Given the description of an element on the screen output the (x, y) to click on. 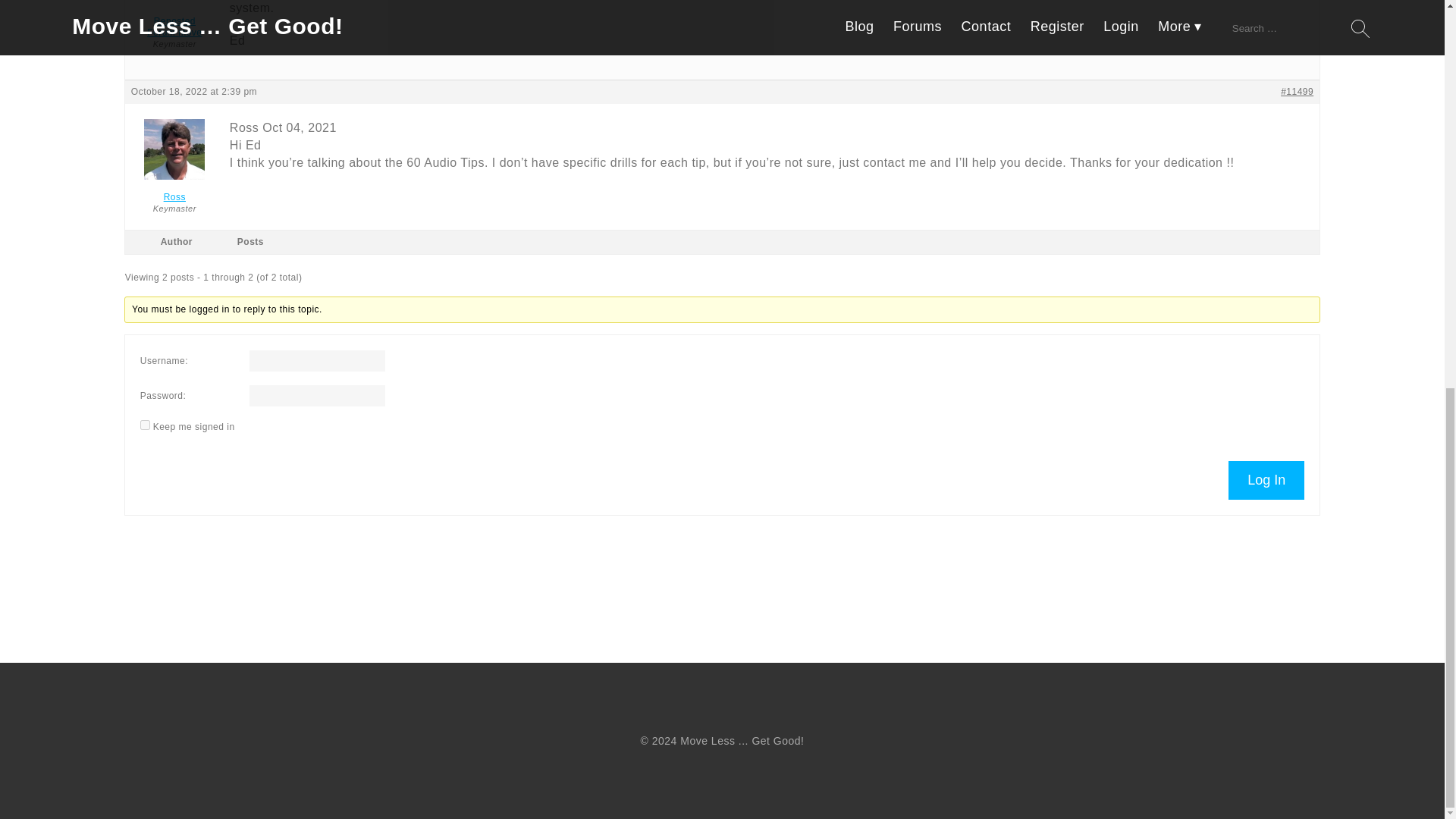
forever (144, 424)
Ross (174, 191)
Log In (1266, 480)
View Ross's profile (174, 191)
View Reposted Forum move's profile (174, 19)
Reposted Forum move (174, 19)
